Given the description of an element on the screen output the (x, y) to click on. 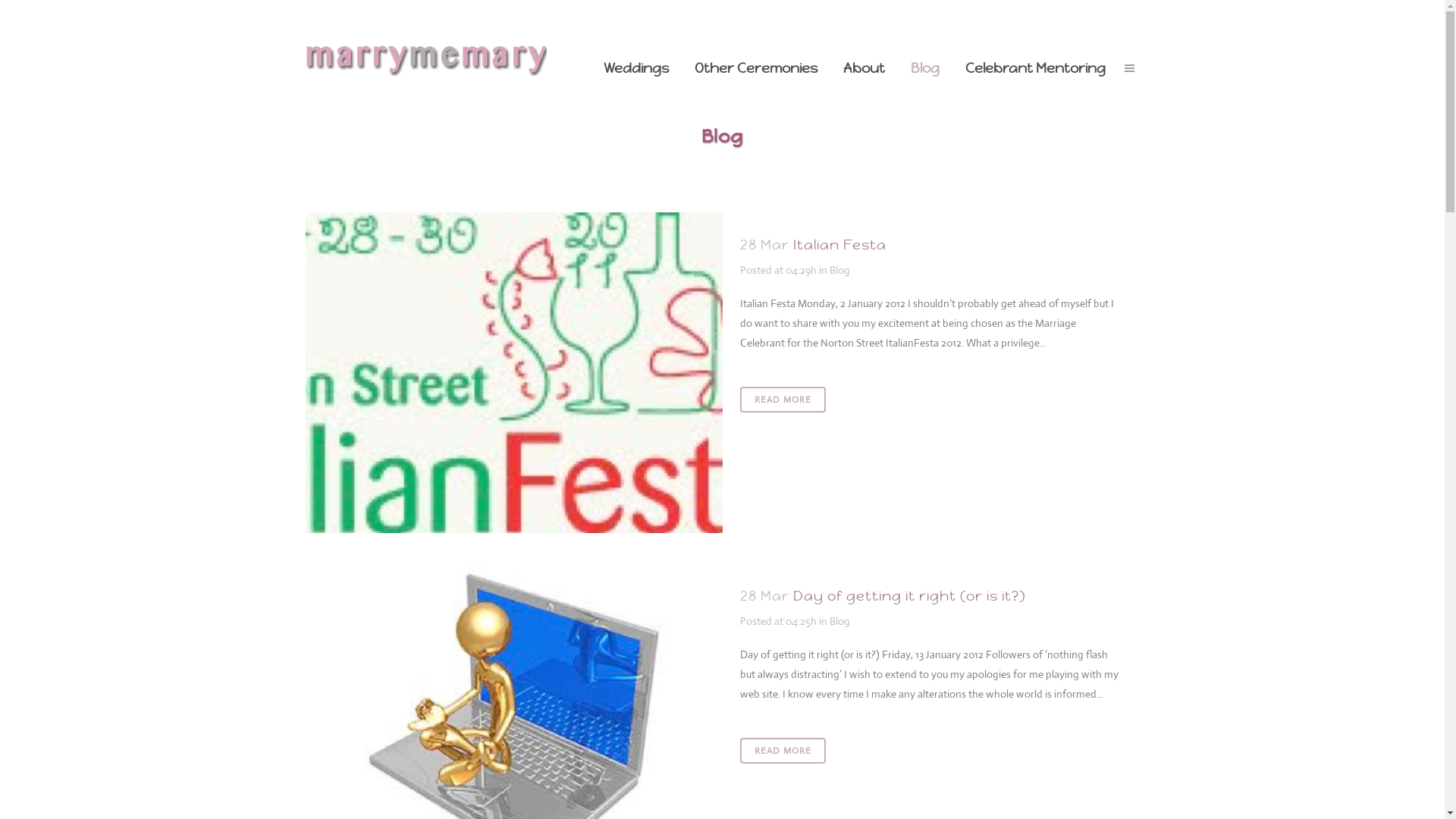
Weddings Element type: text (634, 68)
READ MORE Element type: text (782, 750)
Day of getting it right (or is it?) Element type: text (909, 595)
Celebrant Mentoring Element type: text (1035, 68)
  Element type: text (1128, 68)
READ MORE Element type: text (782, 399)
Blog Element type: text (839, 269)
Italian Festa Element type: text (839, 244)
About Element type: text (863, 68)
Blog Element type: text (924, 68)
Other Ceremonies Element type: text (754, 68)
Blog Element type: text (839, 620)
Italian Festa Element type: hover (512, 372)
